Given the description of an element on the screen output the (x, y) to click on. 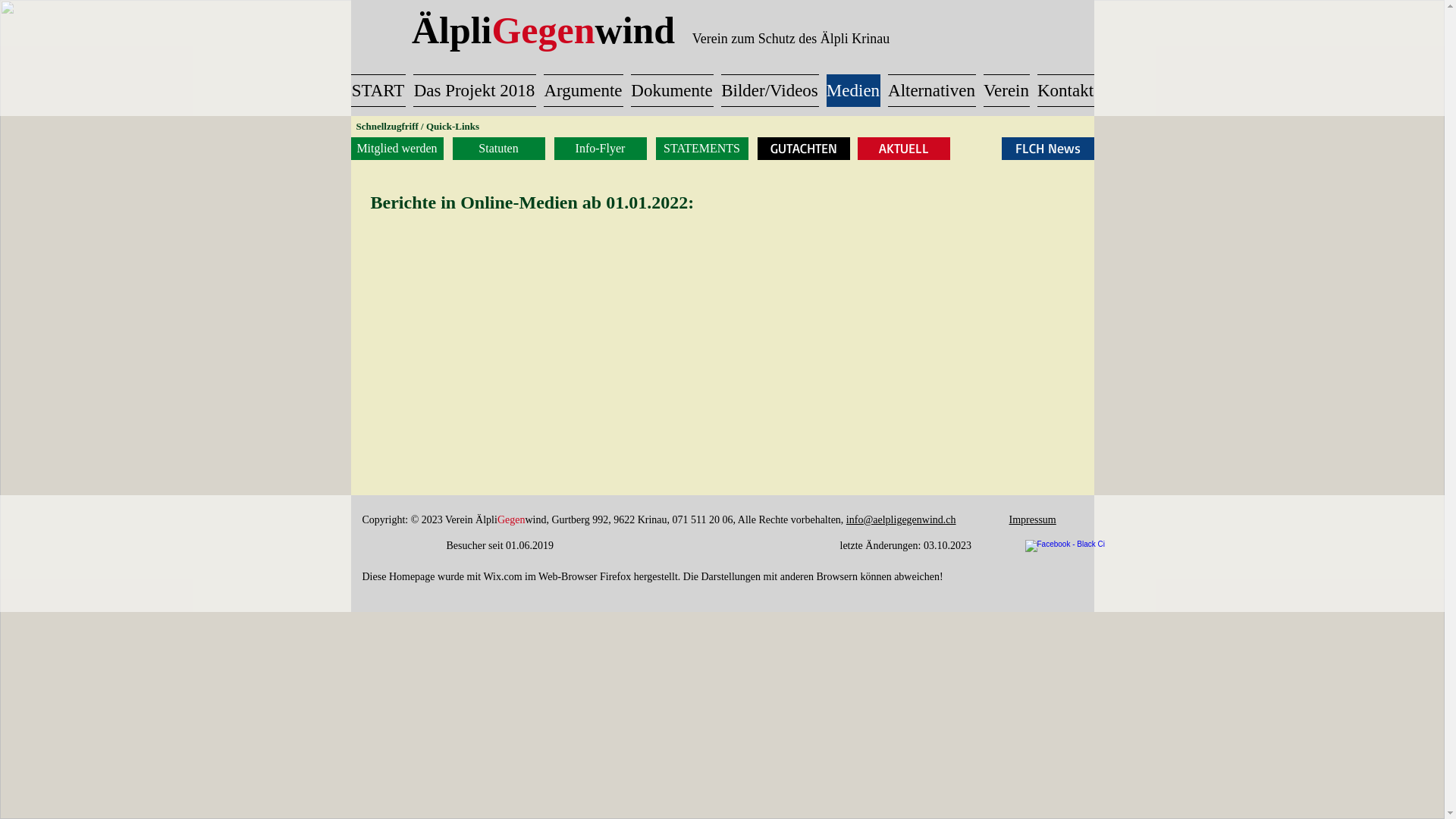
Kontakt Element type: text (1062, 90)
Bilder/Videos Element type: text (769, 90)
FLCH News Element type: text (1047, 148)
Das Projekt 2018 Element type: text (474, 90)
Verein Element type: text (1006, 90)
Argumente Element type: text (583, 90)
GUTACHTEN Element type: text (802, 148)
STATEMENTS Element type: text (701, 148)
info@aelpligegenwind.ch Element type: text (901, 519)
Info-Flyer Element type: text (599, 148)
Mitglied werden Element type: text (396, 148)
Statuten Element type: text (497, 148)
Dokumente Element type: text (671, 90)
Medien Element type: text (852, 90)
START Element type: text (379, 90)
AKTUELL Element type: text (902, 148)
Impressum Element type: text (1032, 519)
Alternativen Element type: text (931, 90)
